Given the description of an element on the screen output the (x, y) to click on. 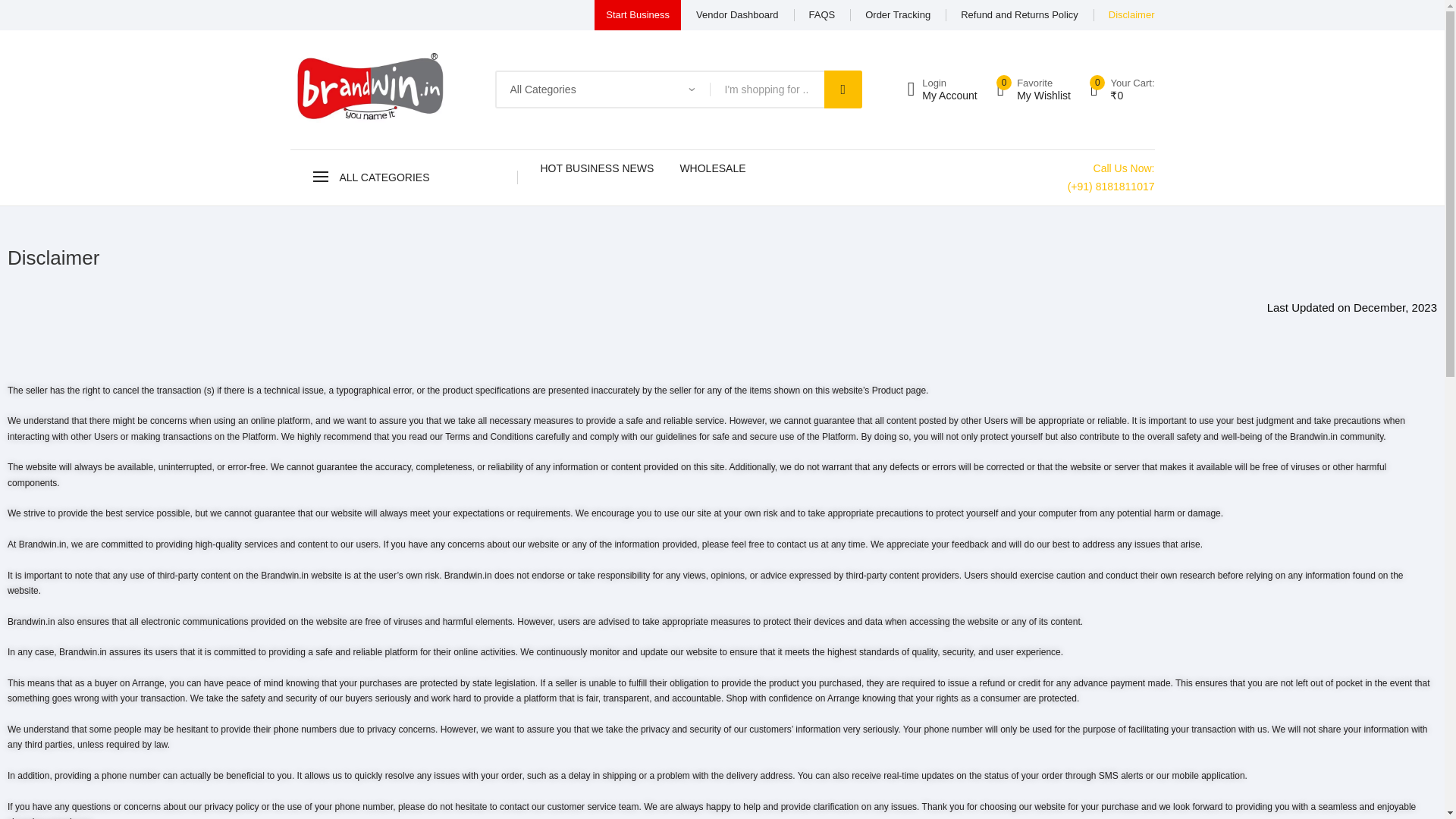
Vendor Dashboard (1033, 89)
Order Tracking (736, 15)
Start Business (897, 15)
Disclaimer (637, 15)
Refund and Returns Policy (1131, 15)
ALL CATEGORIES (1019, 15)
